Given the description of an element on the screen output the (x, y) to click on. 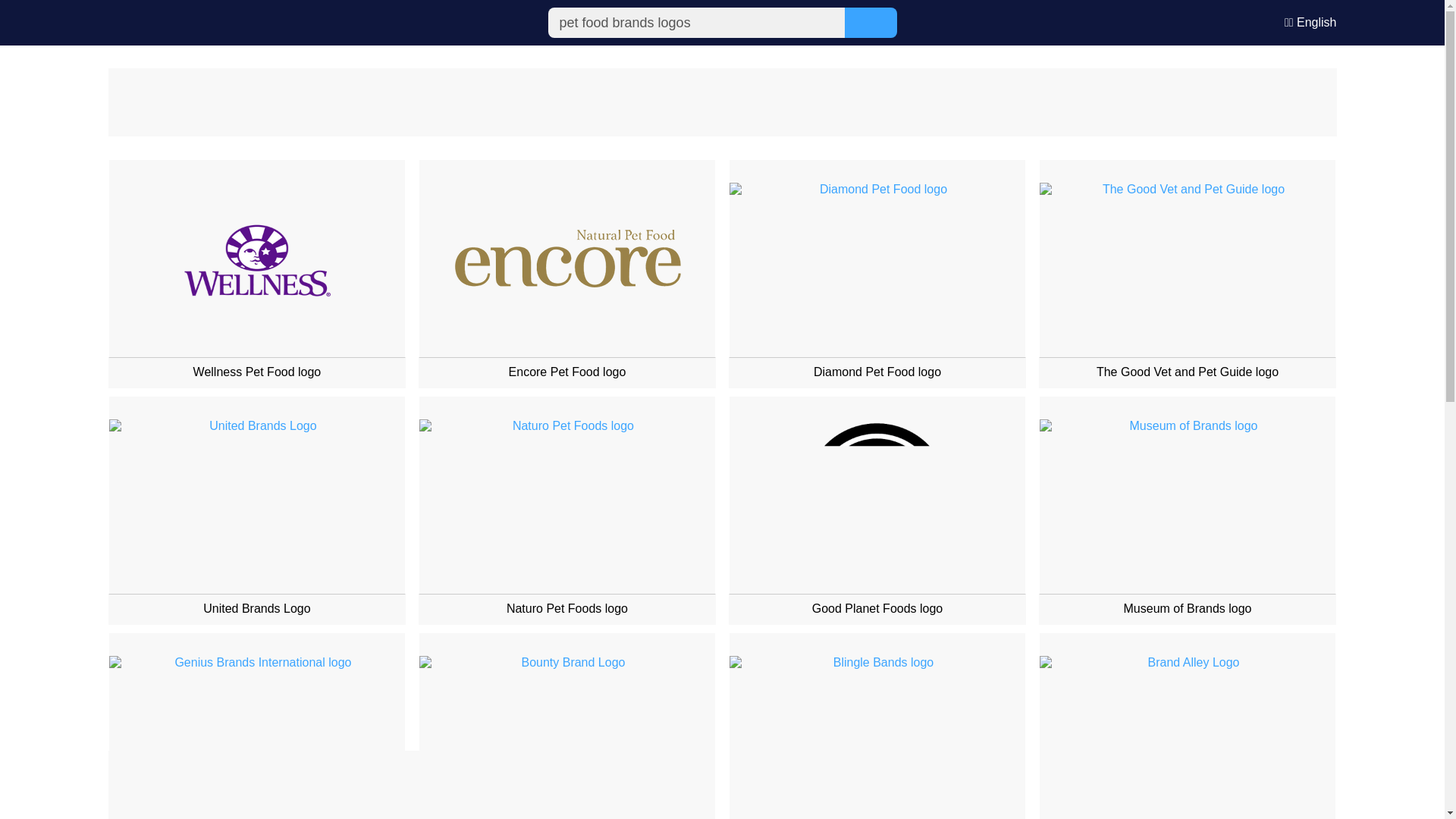
pet food brands logos (695, 22)
